Given the description of an element on the screen output the (x, y) to click on. 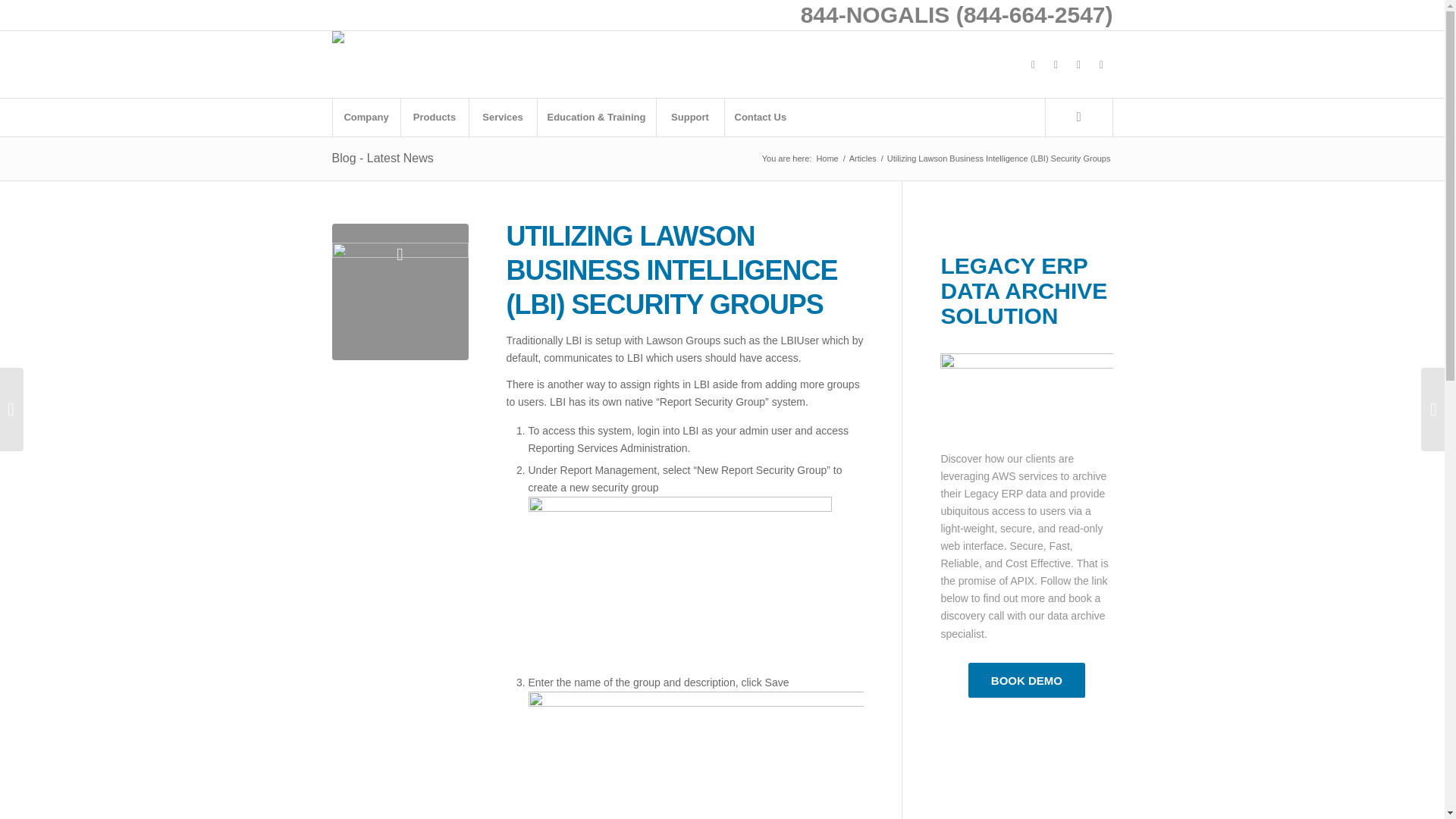
Contact Us (759, 117)
Nogalis, Inc. (826, 158)
Permanent Link: Blog - Latest News (382, 157)
logo with slogan good (367, 42)
Mail (1101, 64)
Home (826, 158)
Book a time to discuss your project with an expert (1026, 680)
LinkedIn (1078, 64)
Products (434, 117)
Company (365, 117)
Support (689, 117)
Blog - Latest News (382, 157)
X (1056, 64)
logo with slogan good (367, 64)
Facebook (1033, 64)
